Given the description of an element on the screen output the (x, y) to click on. 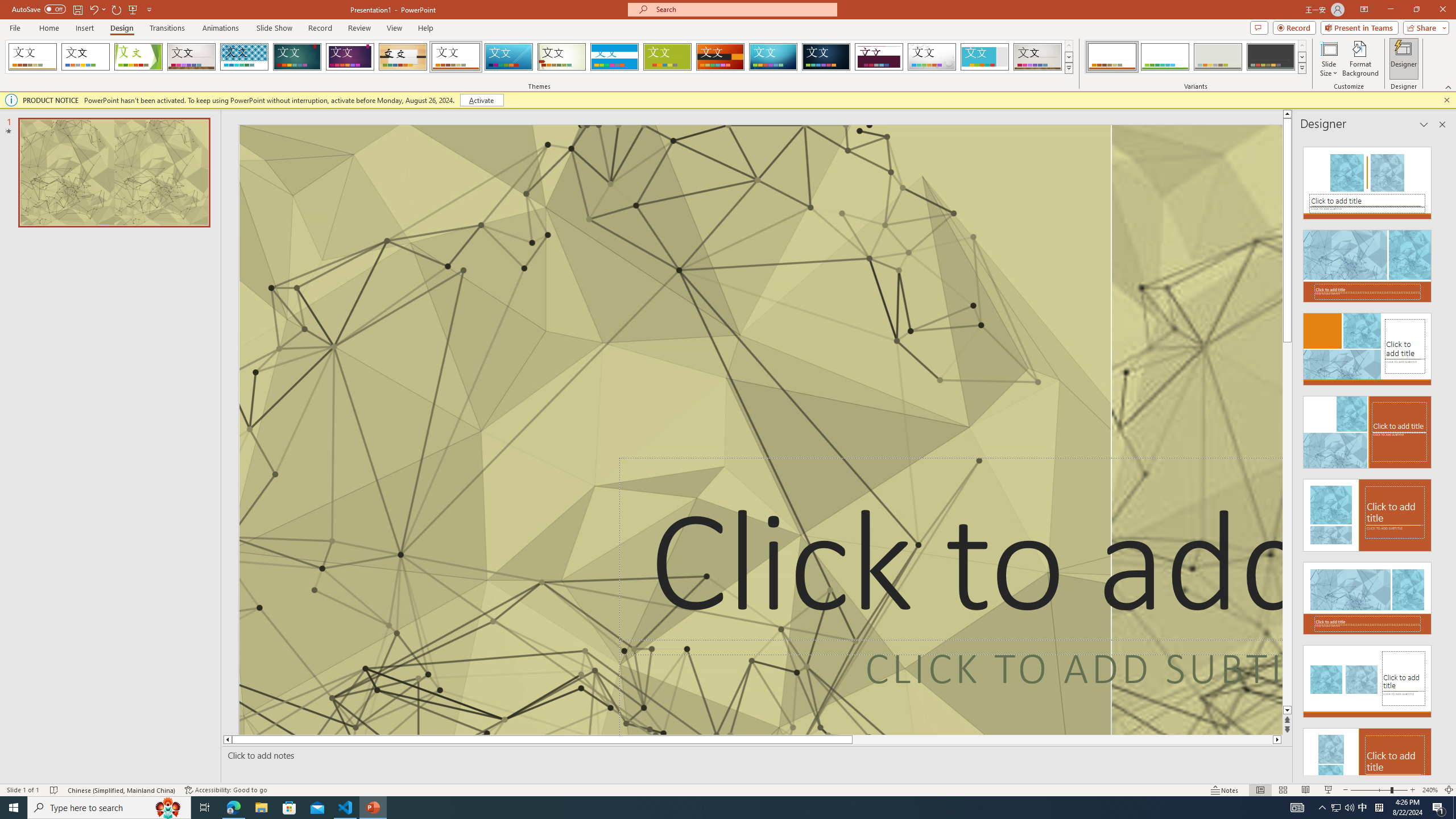
Berlin (720, 56)
